Given the description of an element on the screen output the (x, y) to click on. 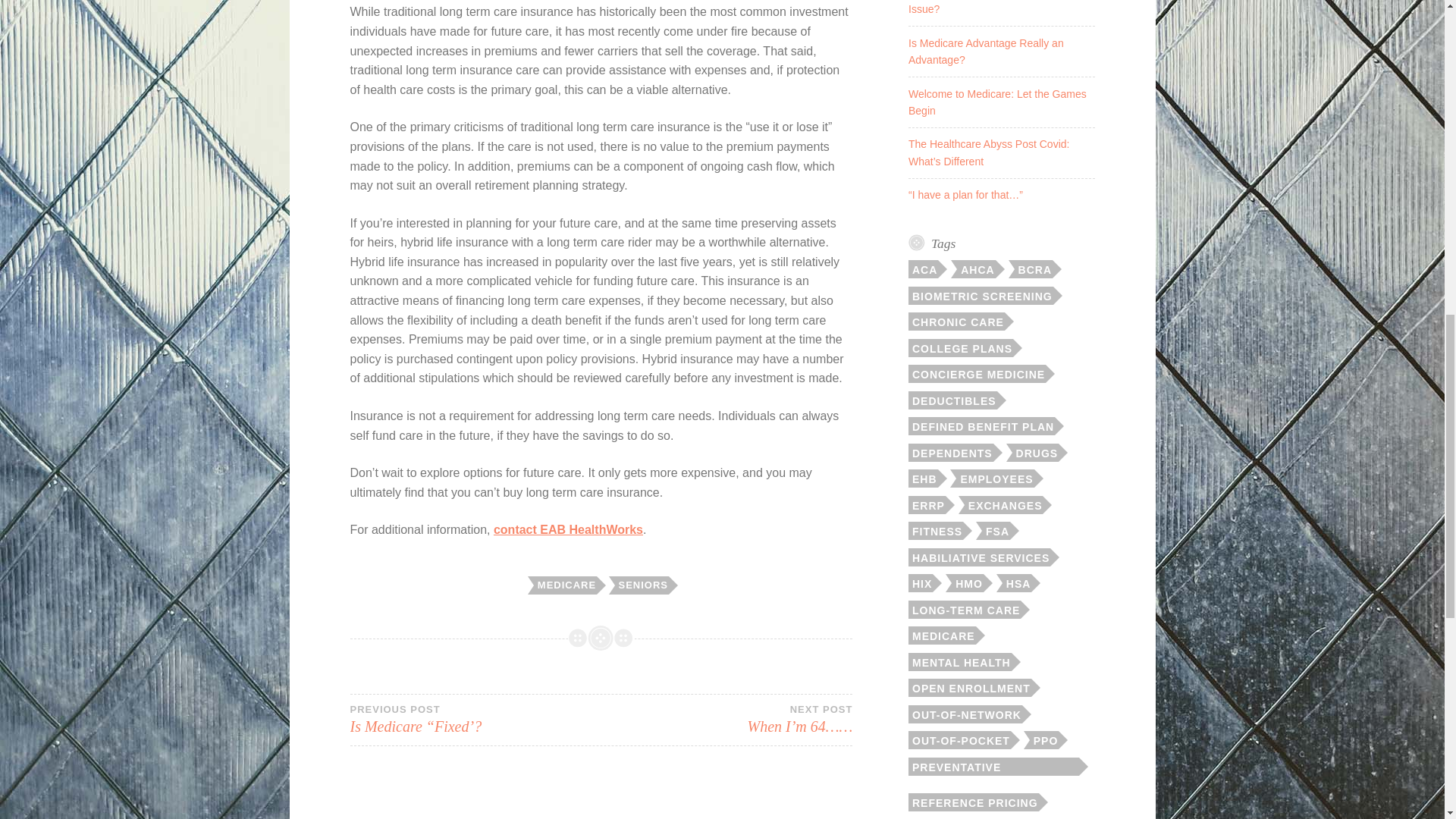
CHRONIC CARE (956, 321)
COLLEGE PLANS (960, 348)
Is Medicare Advantage Really an Advantage? (986, 51)
Health Care in 2024: Is This Still An Issue? (991, 7)
DEPENDENTS (950, 452)
Welcome to Medicare: Let the Games Begin (997, 102)
CONCIERGE MEDICINE (976, 373)
BIOMETRIC SCREENING (980, 295)
ACA (922, 269)
contact EAB HealthWorks (568, 529)
DEFINED BENEFIT PLAN (981, 425)
DEDUCTIBLES (952, 400)
SENIORS (641, 585)
MEDICARE (565, 585)
BCRA (1033, 269)
